Given the description of an element on the screen output the (x, y) to click on. 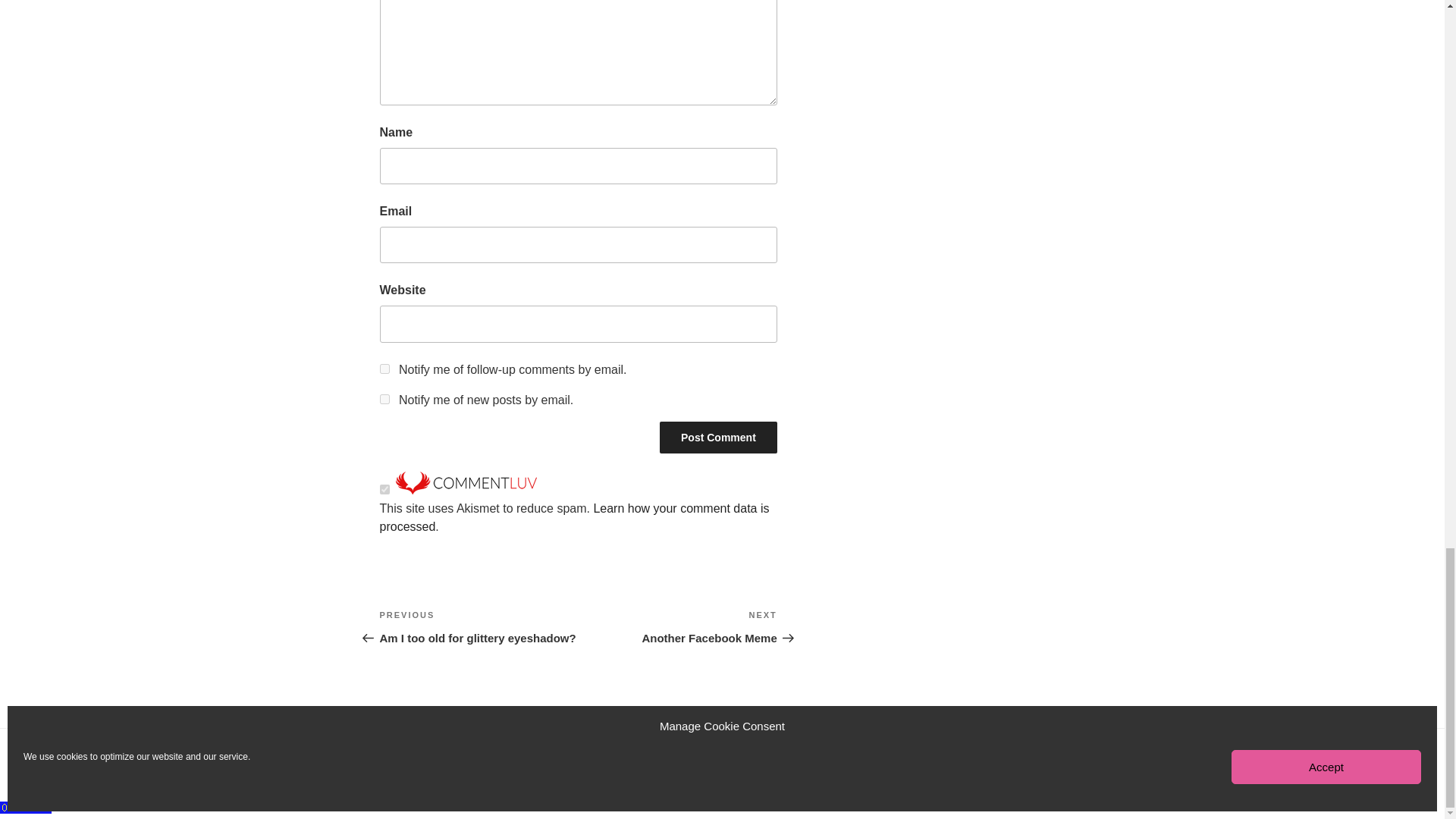
subscribe (383, 368)
Post Comment (718, 437)
subscribe (478, 627)
Learn how your comment data is processed (383, 398)
on (573, 517)
Post Comment (677, 627)
